Given the description of an element on the screen output the (x, y) to click on. 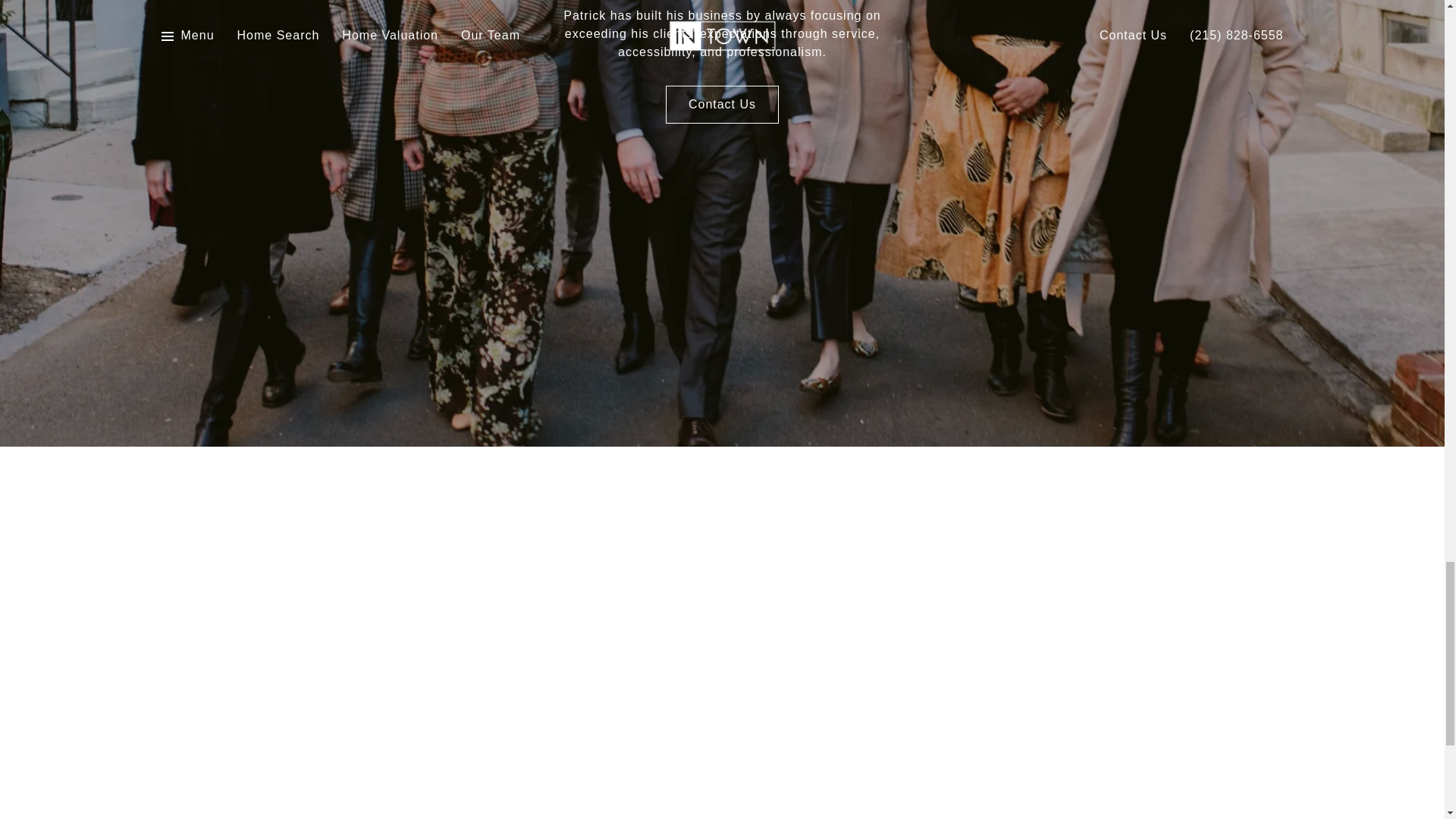
Contact Us (721, 104)
